Given the description of an element on the screen output the (x, y) to click on. 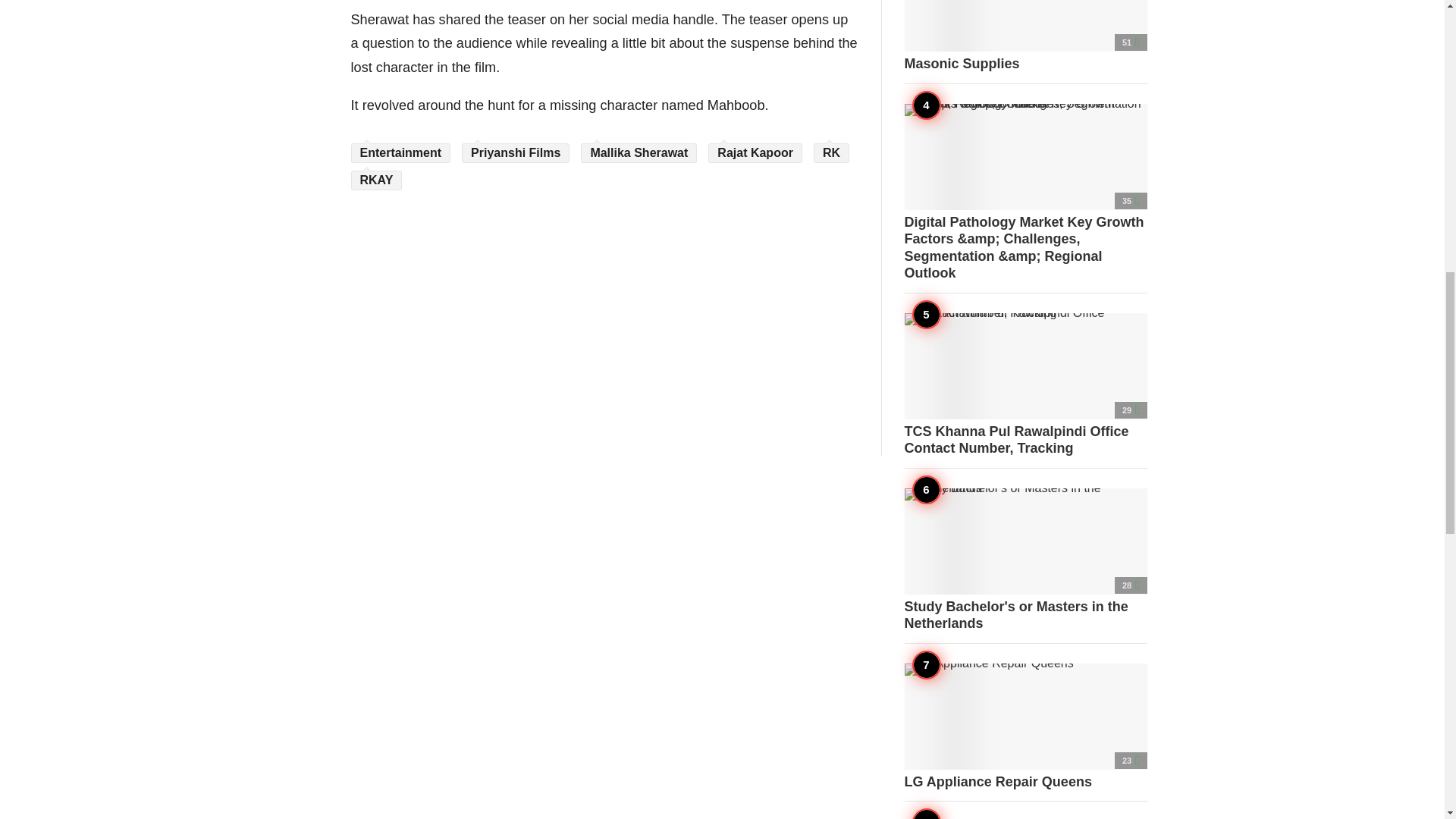
Masonic Supplies (1025, 36)
LG Appliance Repair Queens (1025, 726)
Advertisement (603, 304)
Study Bachelor's or Masters in the Netherlands (1025, 560)
TCS Khanna Pul Rawalpindi Office Contact Number, Tracking (1025, 384)
